Given the description of an element on the screen output the (x, y) to click on. 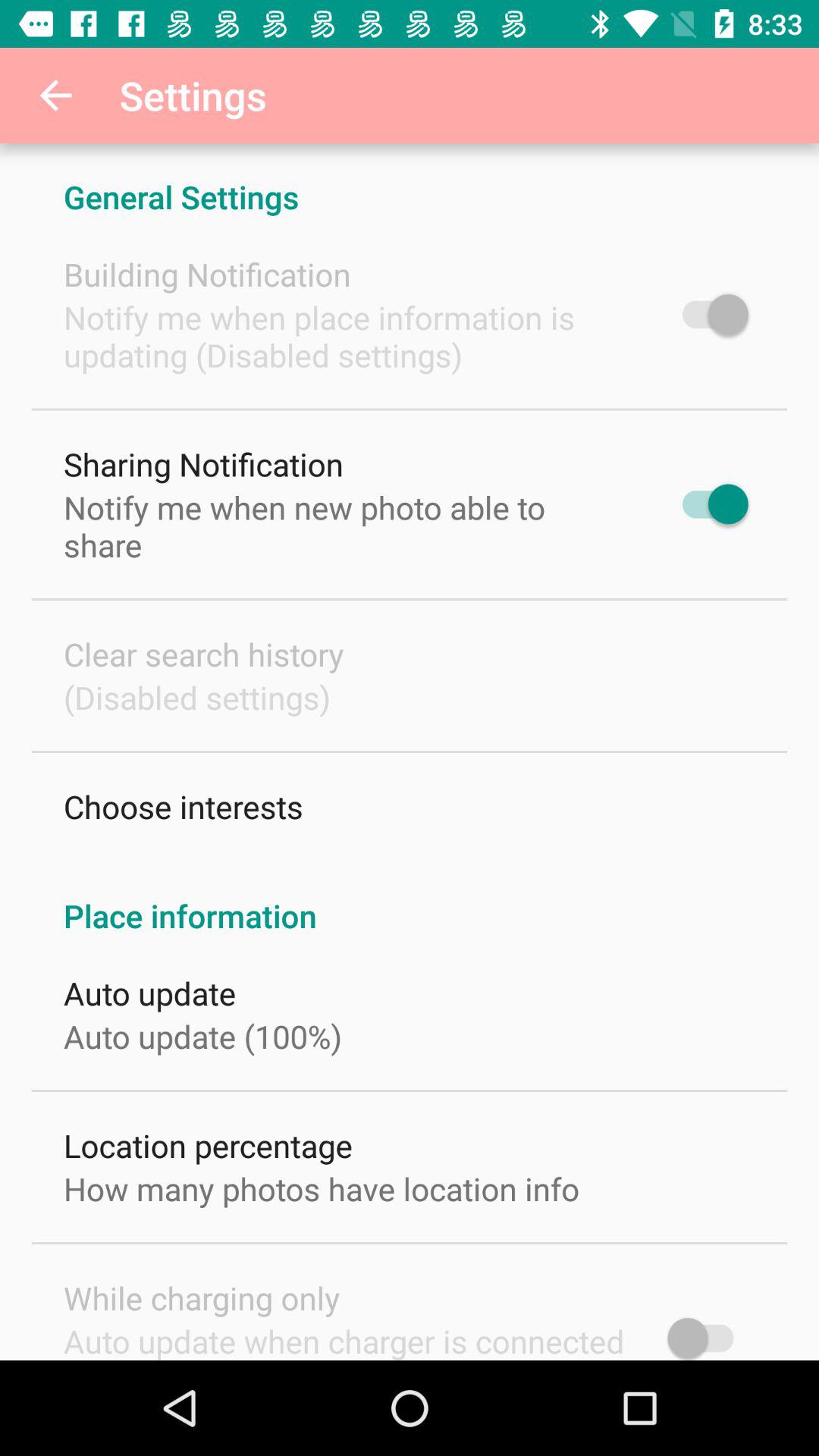
choose item above the notify me when icon (206, 273)
